Given the description of an element on the screen output the (x, y) to click on. 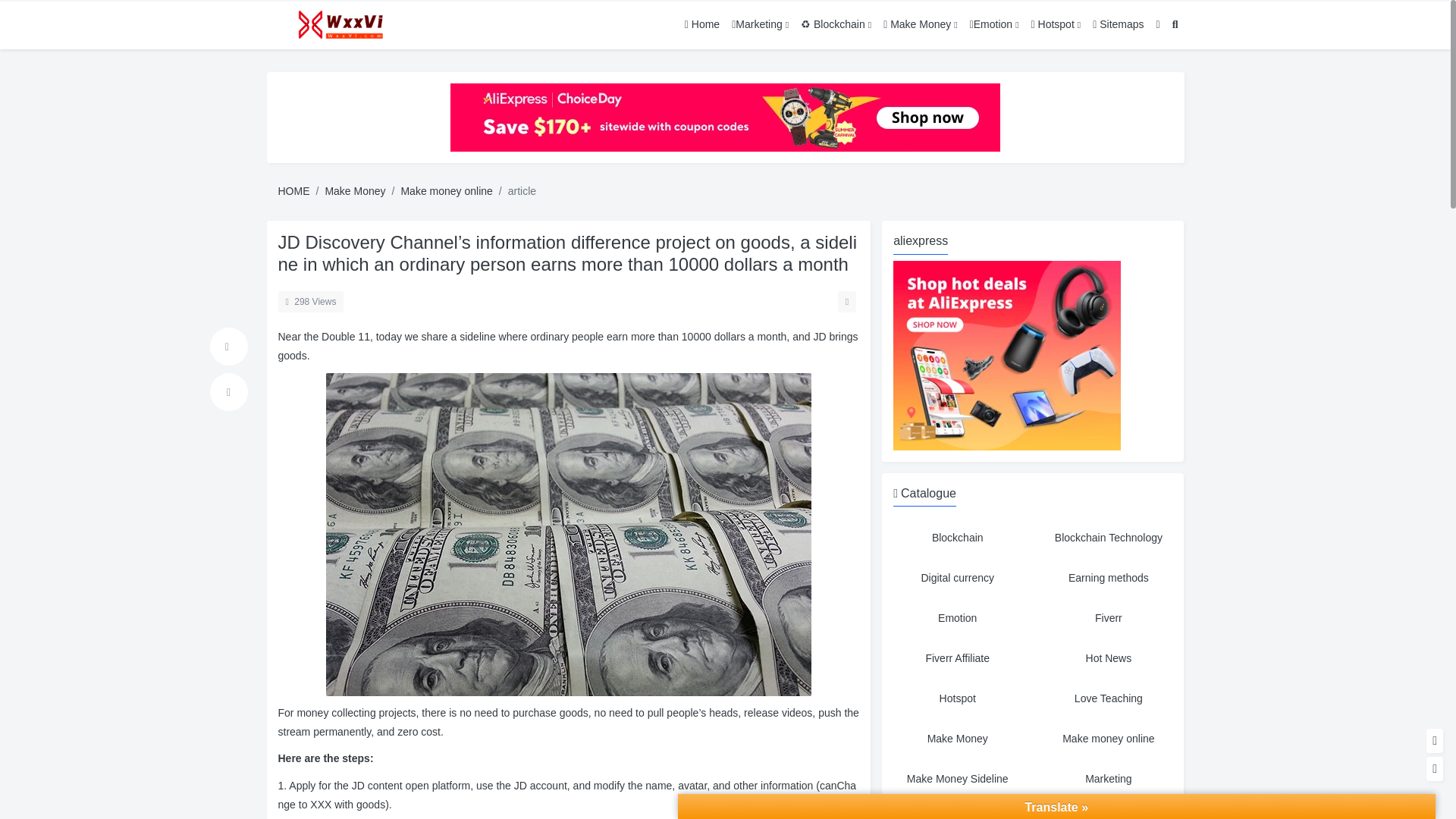
Metaverse (957, 812)
NFT (1108, 812)
Earning methods (1108, 578)
Marketing (1108, 778)
Fiverr Affiliate (957, 658)
Blockchain (957, 538)
Make Money (957, 738)
Hotspot (957, 698)
Emotion (957, 618)
Make money online (1108, 738)
Hot News (1108, 658)
Digital currency (957, 578)
Fiverr (1108, 618)
Love Teaching (1108, 698)
Blockchain Technology (1108, 538)
